Given the description of an element on the screen output the (x, y) to click on. 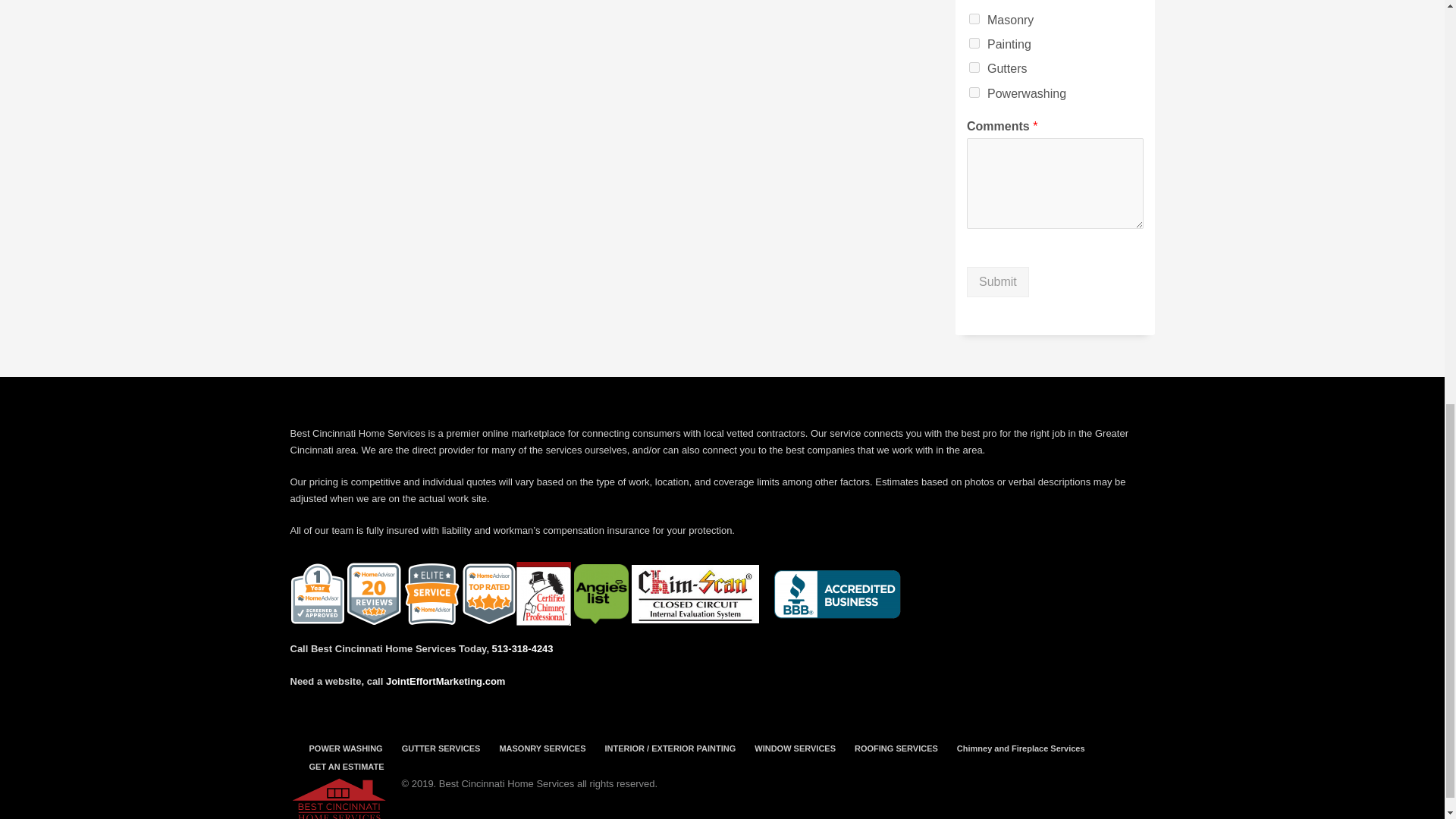
JointEffortMarketing.com (445, 681)
GUTTER SERVICES (440, 748)
GET AN ESTIMATE (346, 766)
Painting (974, 42)
Powerwashing (974, 91)
MASONRY SERVICES (542, 748)
Gutters (974, 67)
Chimney and Fireplace Services (1020, 748)
513-318-4243 (522, 648)
Masonry (974, 18)
WINDOW SERVICES (794, 748)
ROOFING SERVICES (895, 748)
POWER WASHING (345, 748)
Submit (997, 281)
